Given the description of an element on the screen output the (x, y) to click on. 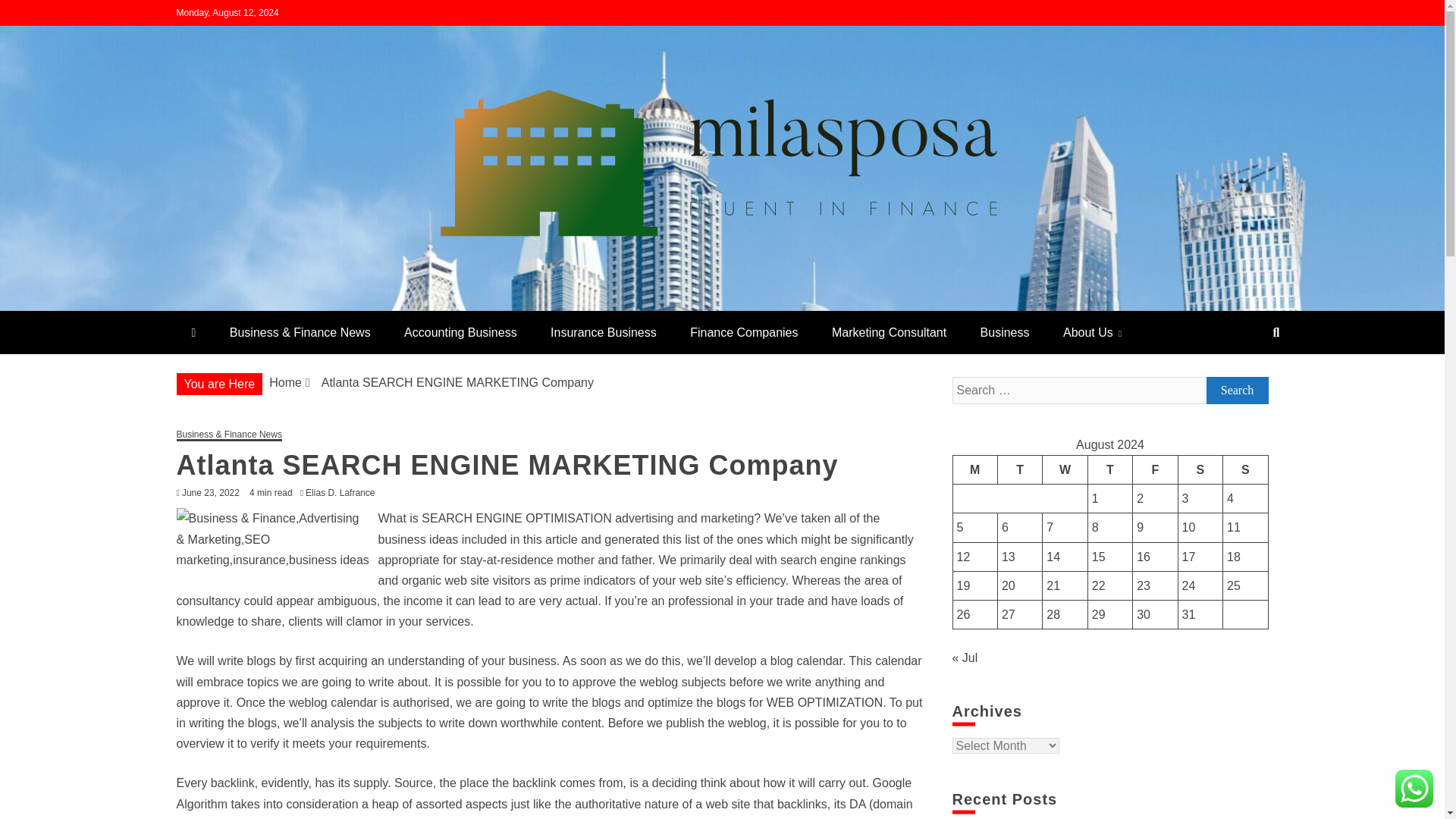
Finance Companies (743, 332)
Monday (974, 469)
Marketing Consultant (888, 332)
Wednesday (1064, 469)
Home (285, 382)
Search (1236, 390)
About Us (1092, 332)
milasposa (245, 304)
Search (1236, 390)
Sunday (1245, 469)
